Given the description of an element on the screen output the (x, y) to click on. 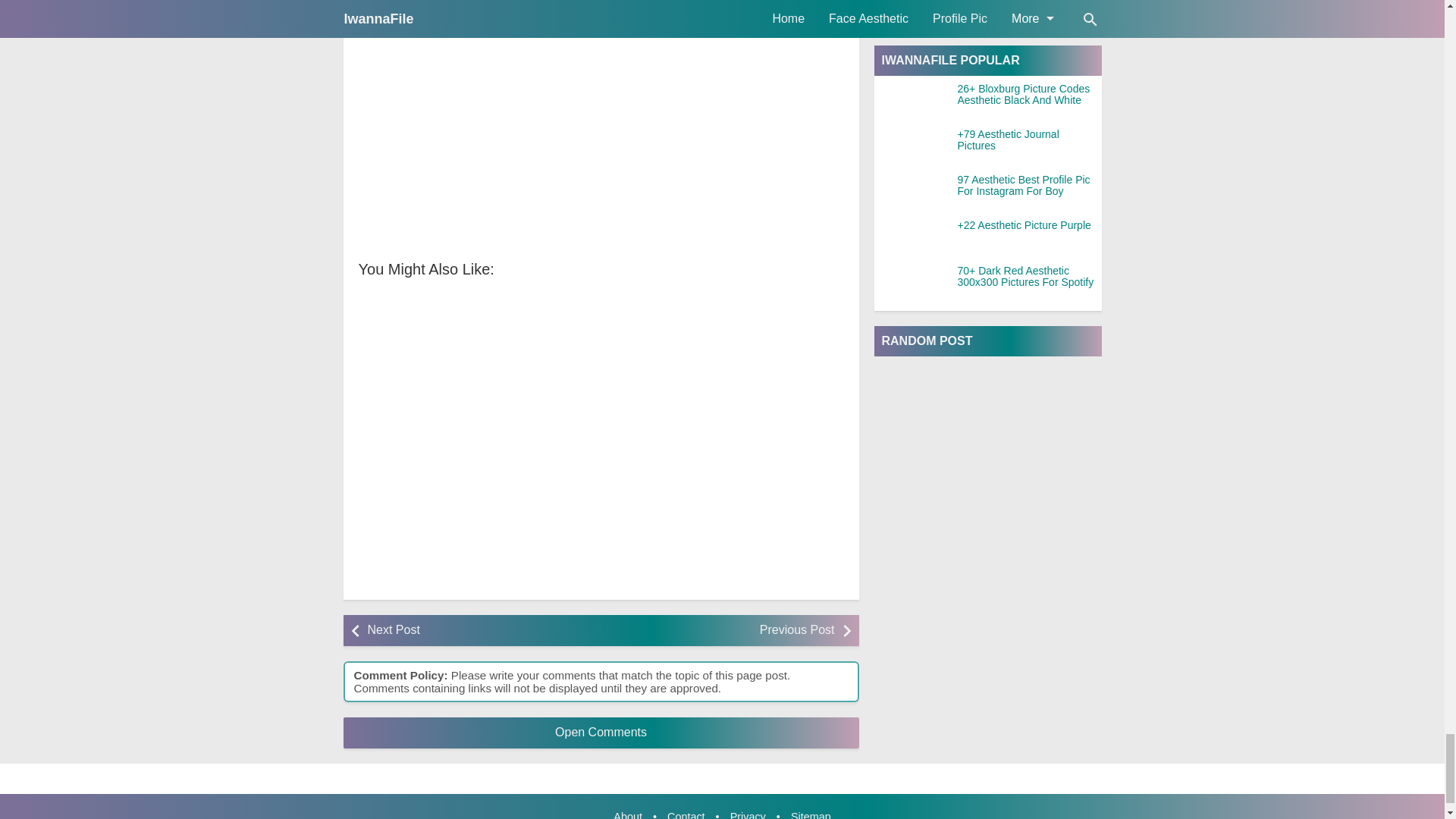
Next Post (479, 630)
Previous Post (721, 630)
